Given the description of an element on the screen output the (x, y) to click on. 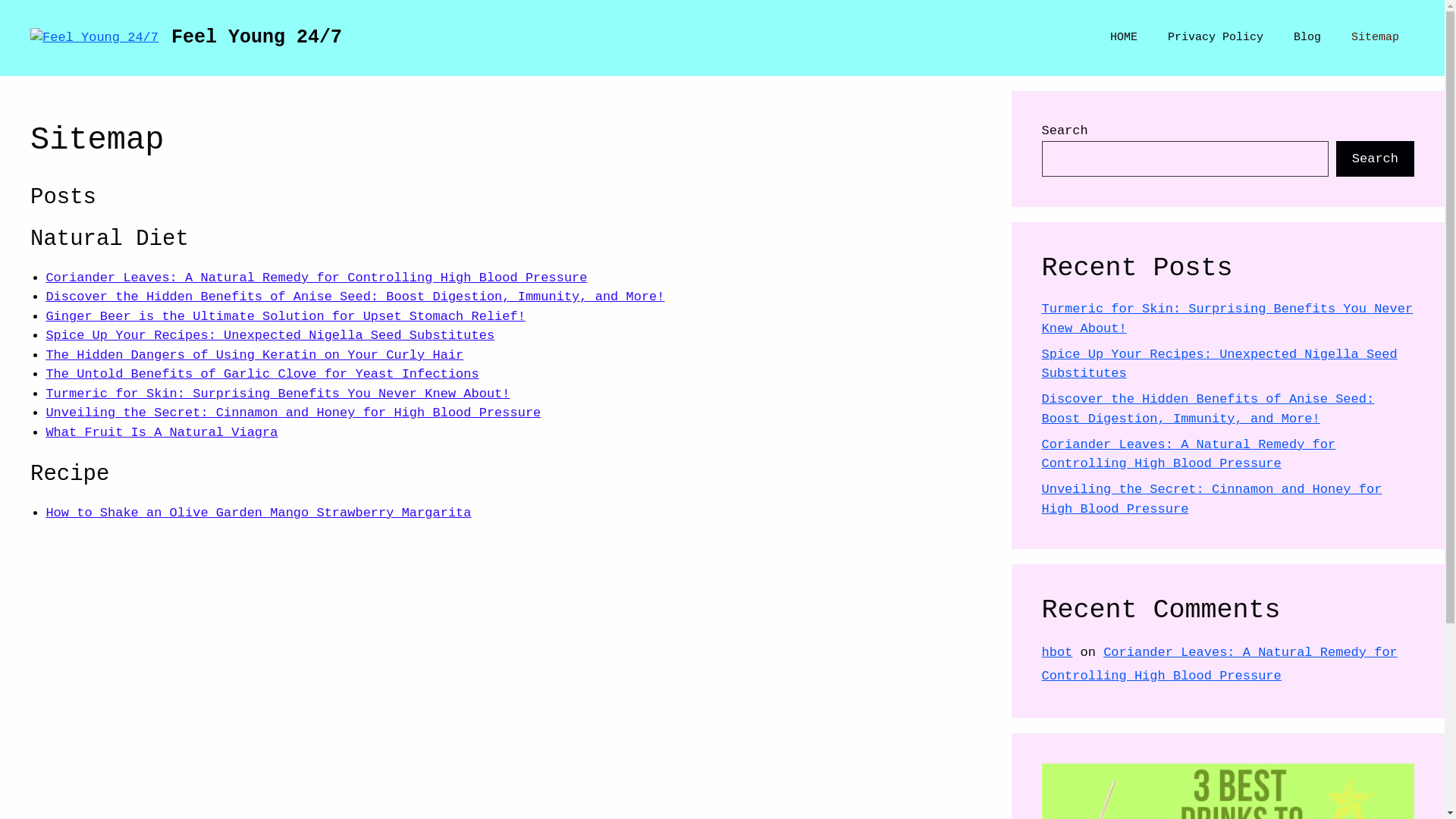
The Untold Benefits of Garlic Clove for Yeast Infections Element type: text (261, 374)
How to Shake an Olive Garden Mango Strawberry Margarita Element type: text (257, 512)
Sitemap Element type: text (1375, 37)
What Fruit Is A Natural Viagra Element type: text (161, 432)
The Hidden Dangers of Using Keratin on Your Curly Hair Element type: text (254, 355)
Privacy Policy Element type: text (1215, 37)
Spice Up Your Recipes: Unexpected Nigella Seed Substitutes Element type: text (269, 335)
Blog Element type: text (1307, 37)
Turmeric for Skin: Surprising Benefits You Never Knew About! Element type: text (277, 393)
hbot Element type: text (1057, 652)
HOME Element type: text (1123, 37)
Search Element type: text (1375, 159)
Spice Up Your Recipes: Unexpected Nigella Seed Substitutes Element type: text (1219, 364)
Turmeric for Skin: Surprising Benefits You Never Knew About! Element type: text (1227, 318)
Feel Young 24/7 Element type: text (256, 37)
